Given the description of an element on the screen output the (x, y) to click on. 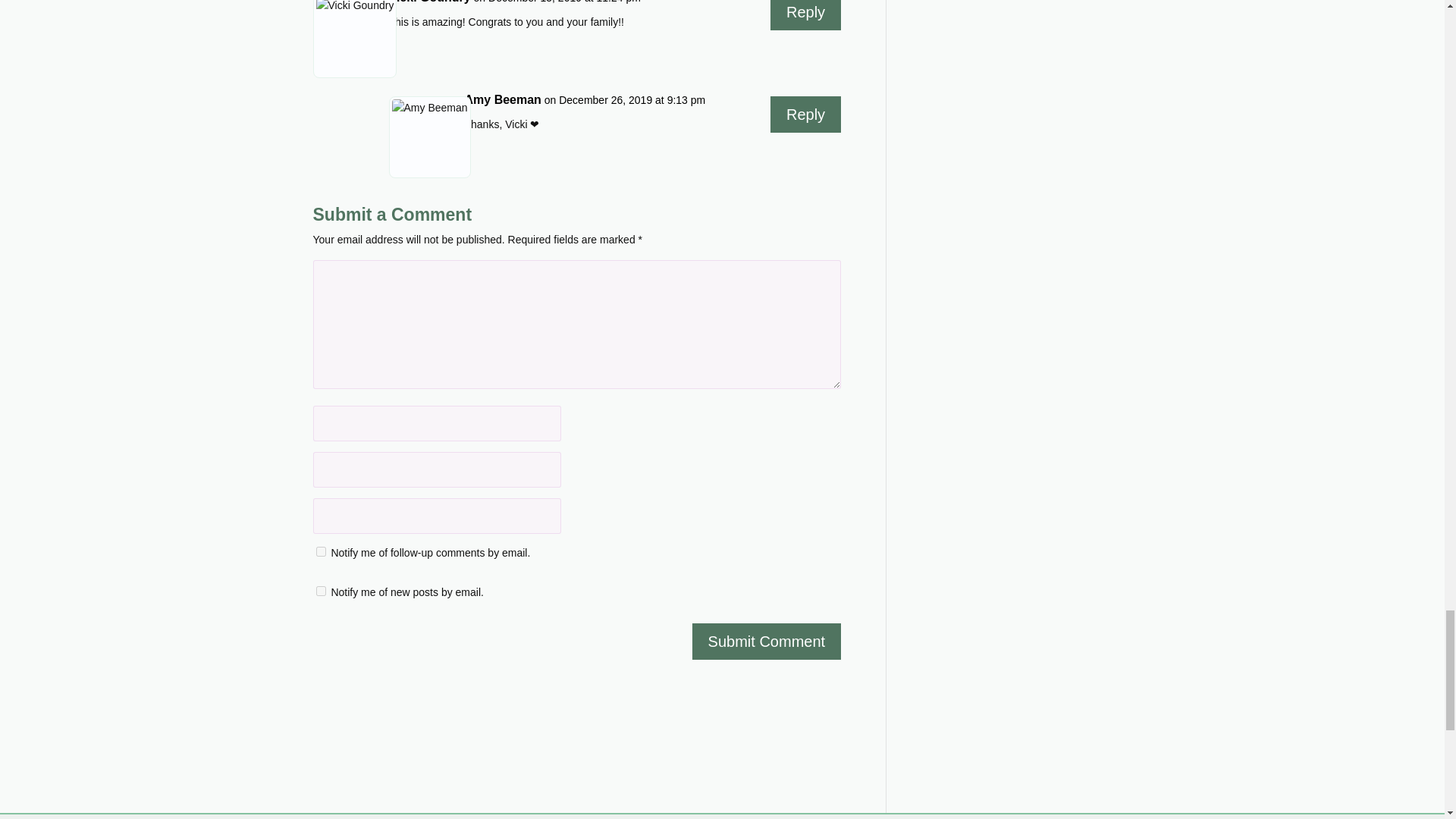
subscribe (319, 591)
Submit Comment (767, 641)
subscribe (319, 551)
